Given the description of an element on the screen output the (x, y) to click on. 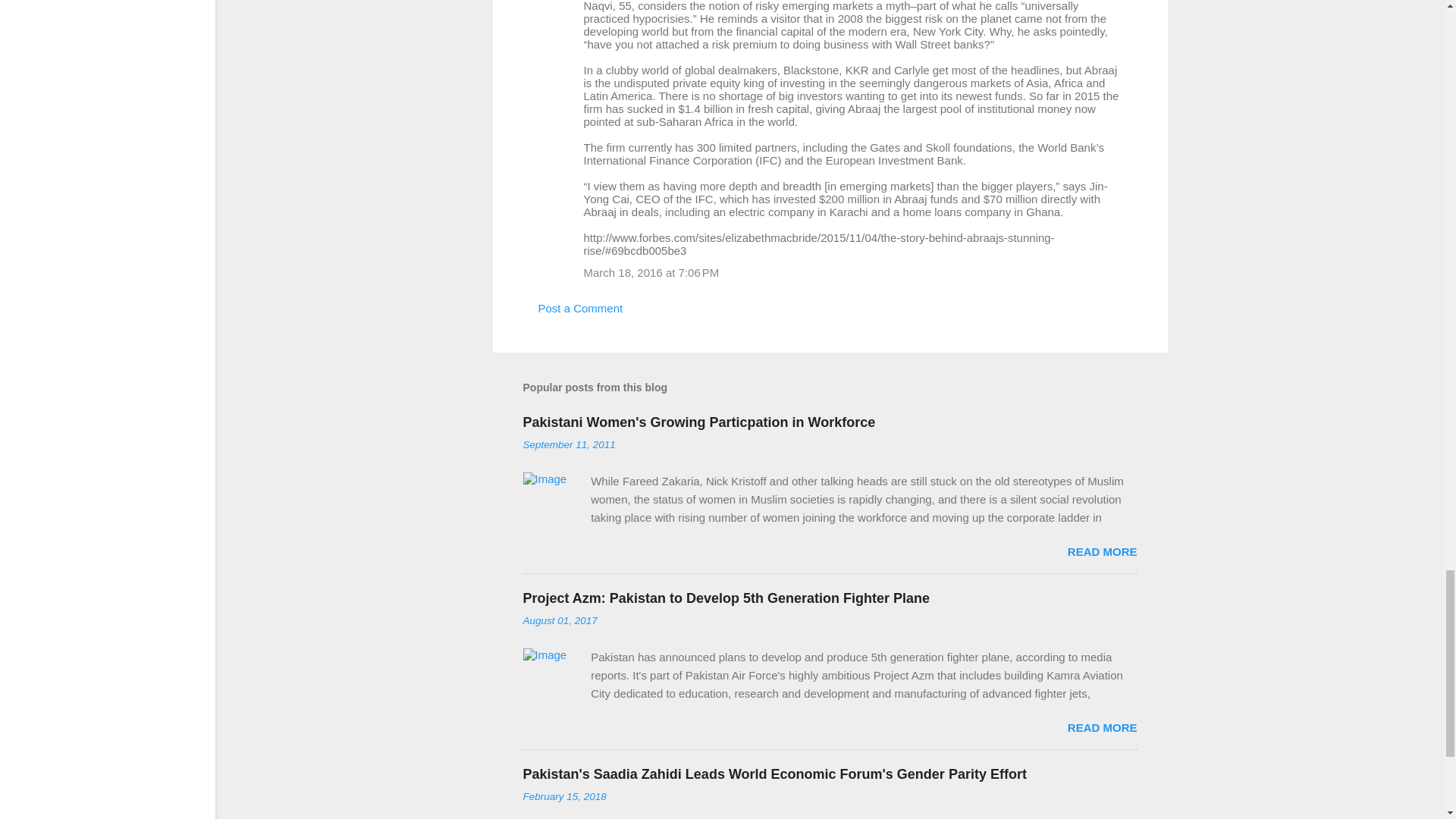
Pakistani Women's Growing Particpation in Workforce (699, 421)
August 01, 2017 (559, 620)
September 11, 2011 (568, 444)
READ MORE (1102, 551)
Post a Comment (580, 308)
READ MORE (1102, 727)
February 15, 2018 (564, 796)
